Given the description of an element on the screen output the (x, y) to click on. 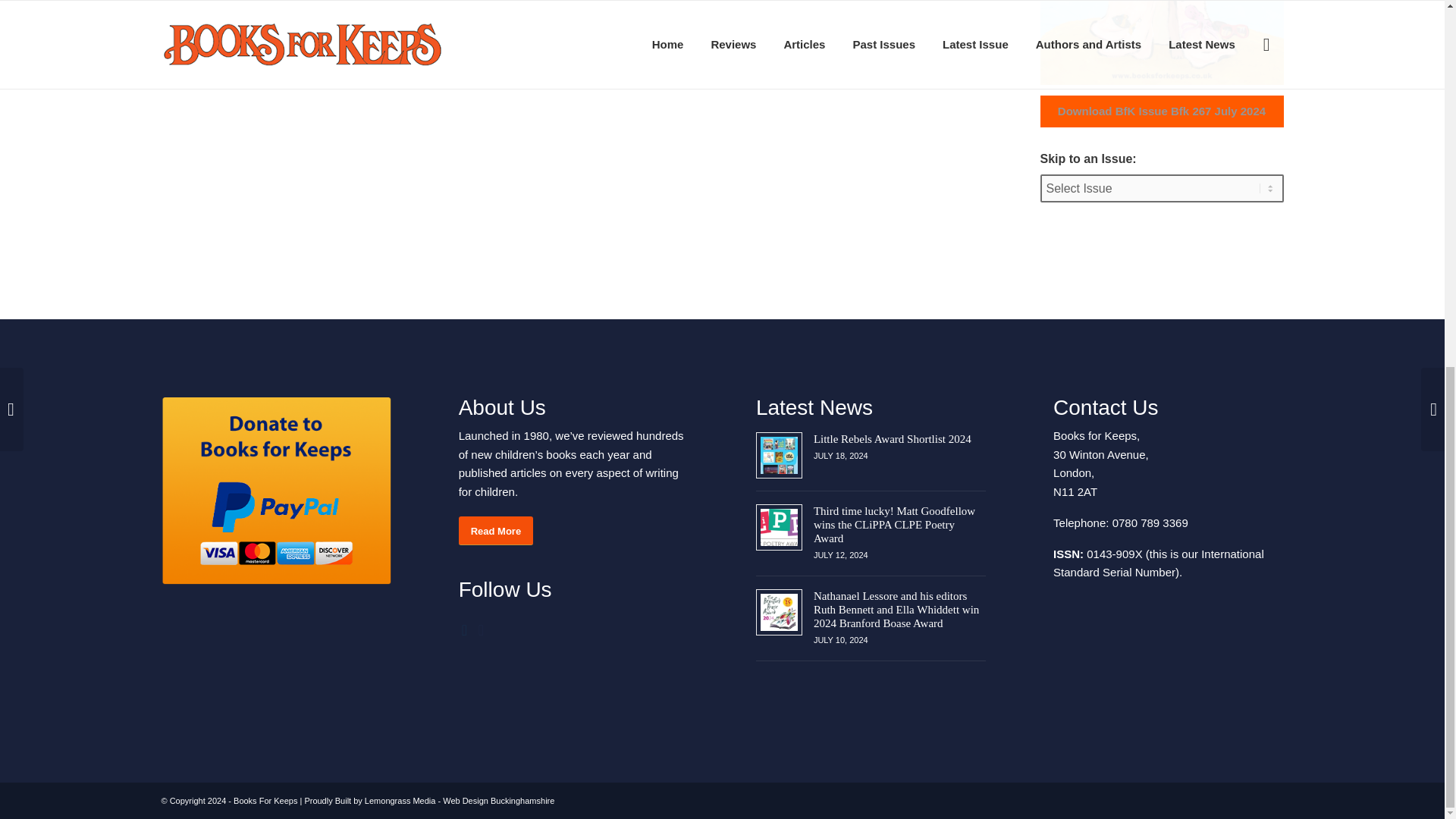
Download BfK Issue Bfk 267 July 2024 (1162, 111)
Read More (495, 531)
Little Rebels Award Shortlist 2024 (892, 438)
Link to: Little Rebels Award Shortlist 2024 (778, 455)
Link to: Little Rebels Award Shortlist 2024 (892, 438)
PayPal - The safer, easier way to pay online! (275, 490)
